Given the description of an element on the screen output the (x, y) to click on. 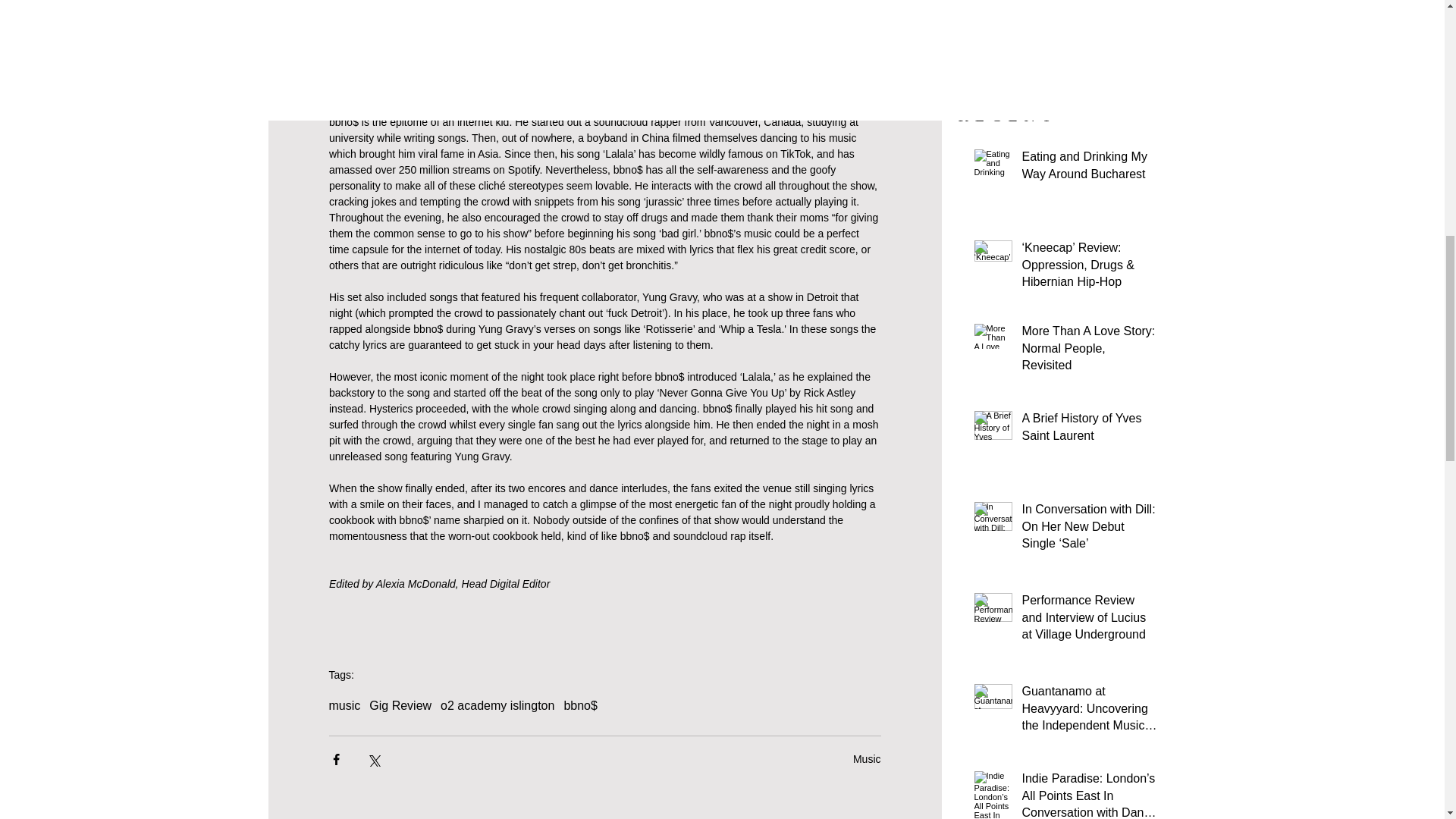
A Brief History of Yves Saint Laurent (1089, 430)
o2 academy islington (497, 705)
music (345, 705)
Eating and Drinking My Way Around Bucharest (1089, 168)
Music (866, 758)
More Than A Love Story: Normal People, Revisited (1089, 351)
Gig Review (399, 705)
